Given the description of an element on the screen output the (x, y) to click on. 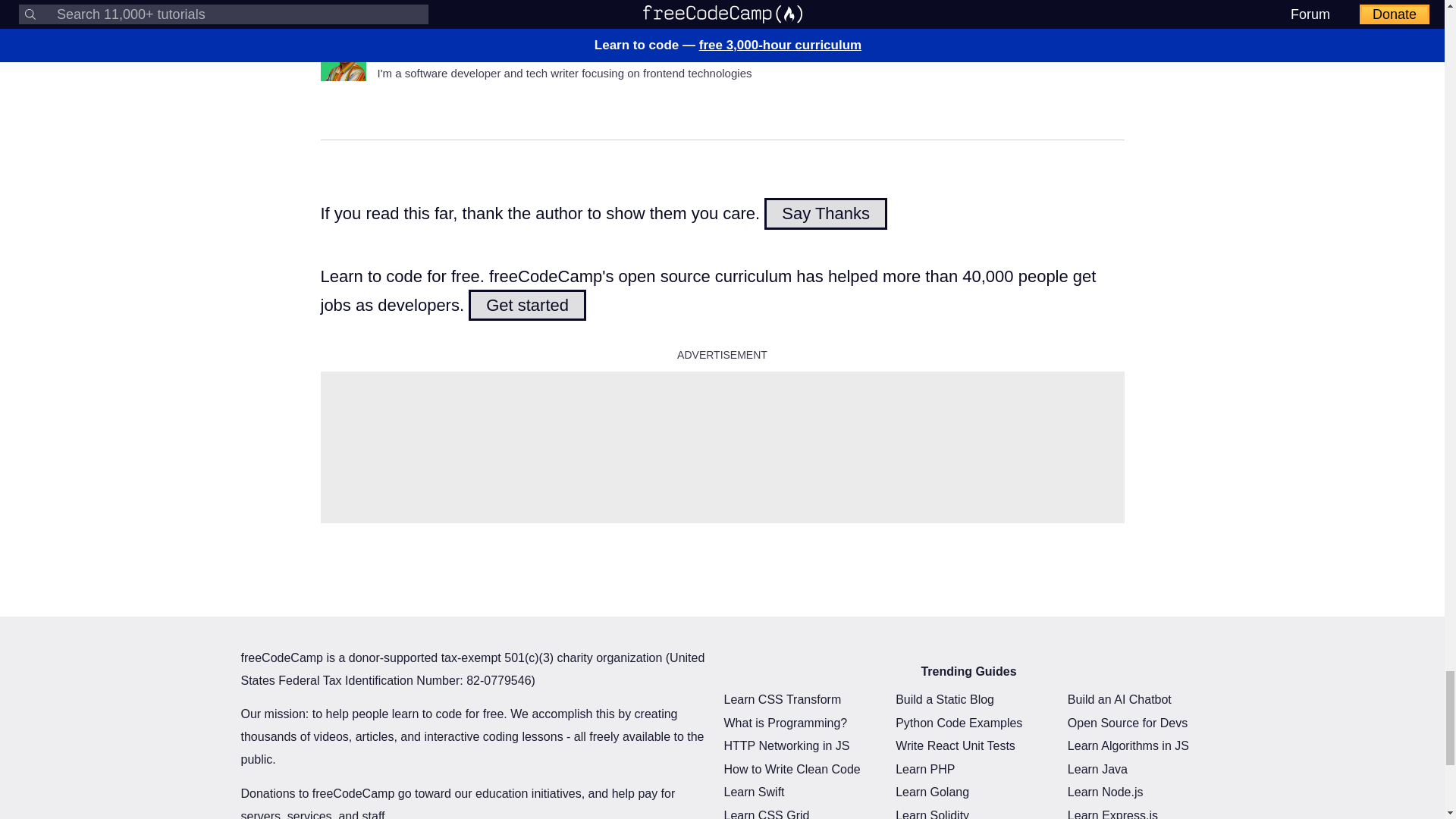
Learn CSS Transform (782, 699)
What is Programming? (785, 722)
Python Code Examples (958, 722)
Build a Static Blog (944, 699)
Build an AI Chatbot (1119, 699)
Kolade Chris (423, 48)
Say Thanks (825, 213)
Open Source for Devs (1127, 722)
Get started (527, 305)
